Given the description of an element on the screen output the (x, y) to click on. 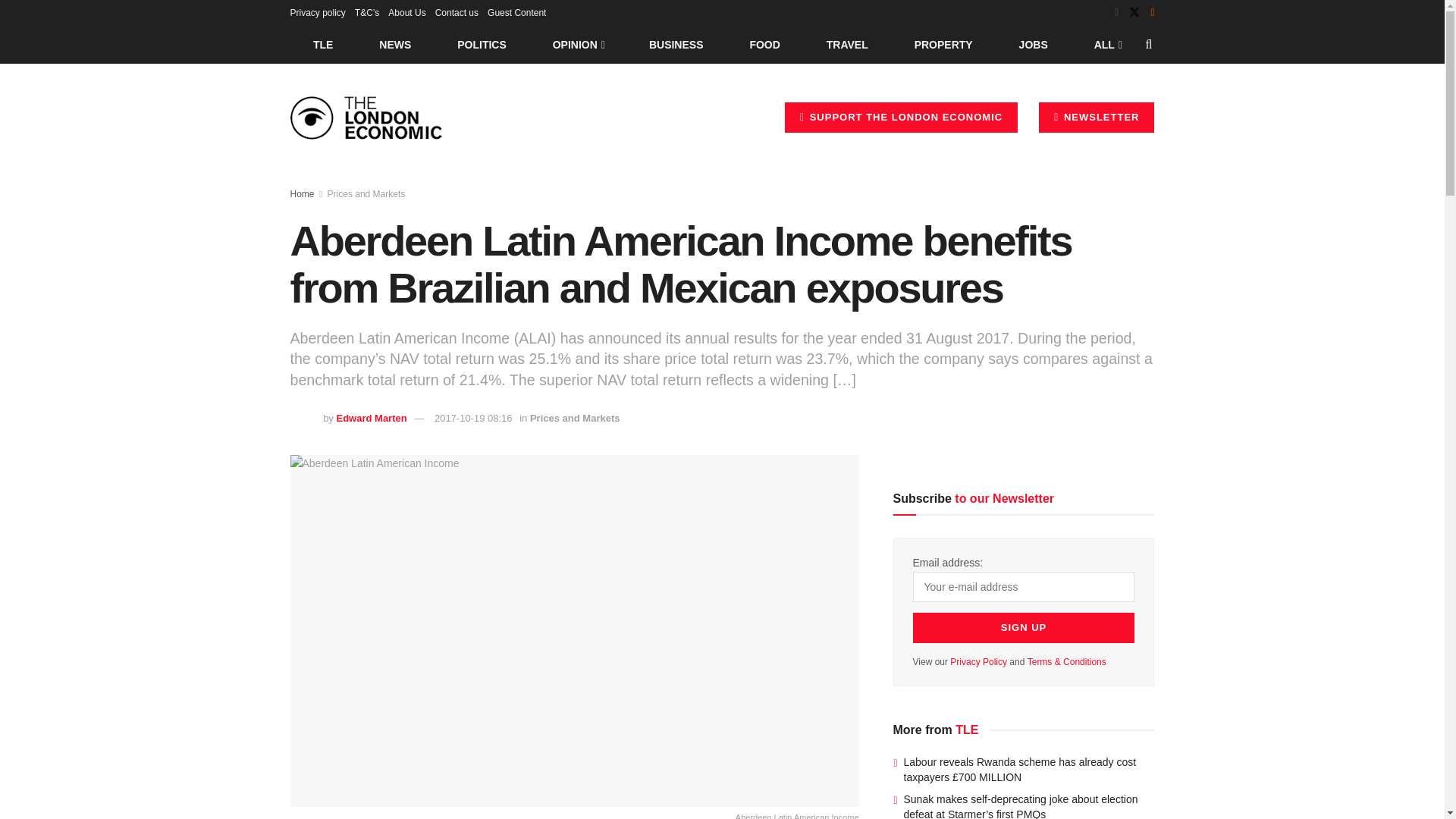
SUPPORT THE LONDON ECONOMIC (900, 117)
NEWSLETTER (1096, 117)
NEWS (394, 44)
OPINION (577, 44)
ALL (1106, 44)
Contact us (457, 12)
JOBS (1032, 44)
TLE (322, 44)
FOOD (764, 44)
POLITICS (481, 44)
Home (301, 194)
Privacy policy (317, 12)
TRAVEL (847, 44)
About Us (406, 12)
PROPERTY (943, 44)
